Given the description of an element on the screen output the (x, y) to click on. 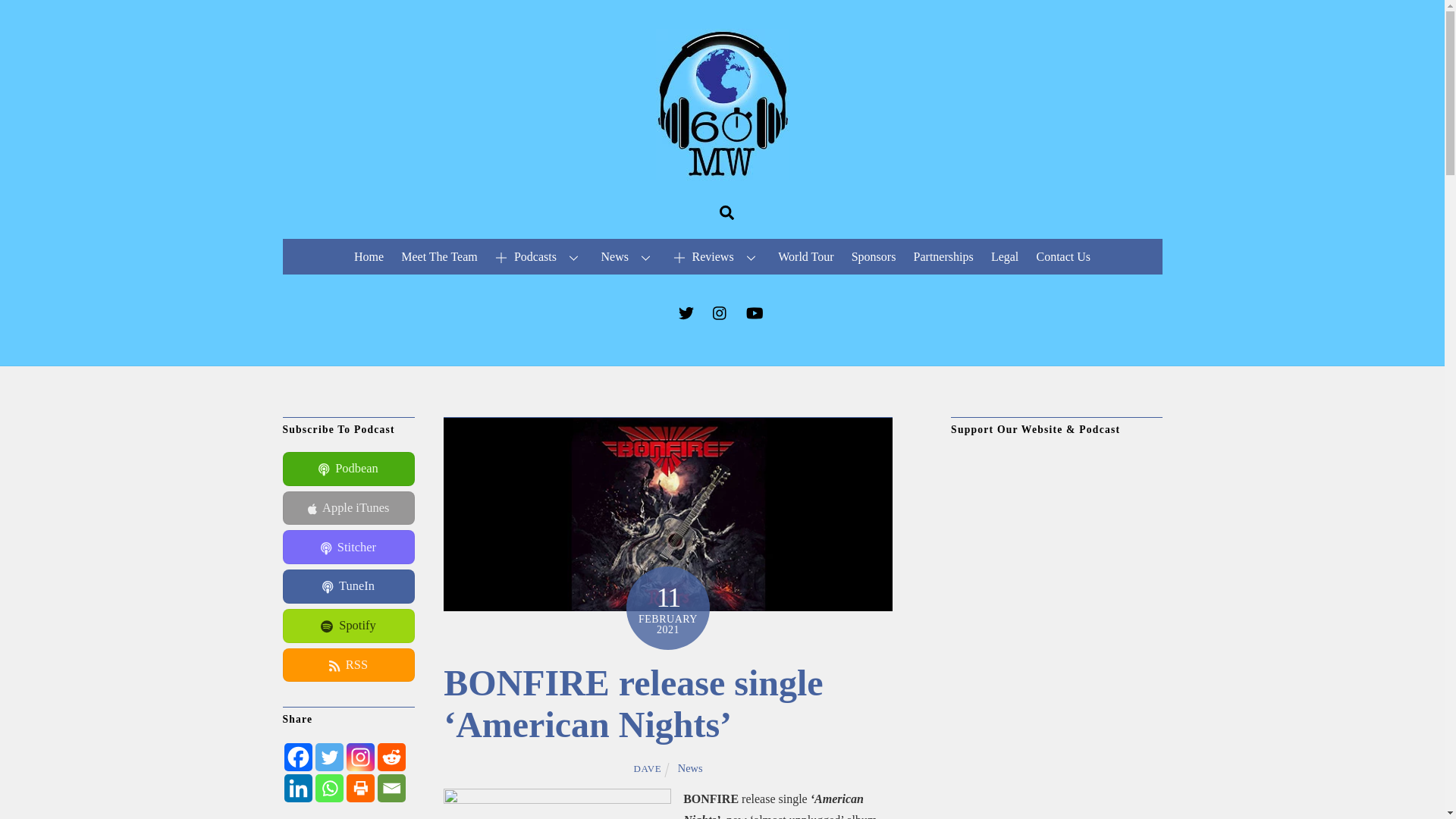
Legal (1005, 256)
Home (368, 256)
News (628, 256)
Podcasts (539, 256)
World Tour (806, 256)
Partnerships (942, 256)
60 Minutes With (722, 173)
HeaderBonfireRootsAlbum (668, 513)
Reviews (716, 256)
Contact Us (1063, 256)
News (690, 767)
Meet The Team (439, 256)
DAVE (647, 767)
Search (726, 211)
Facebook (297, 756)
